Given the description of an element on the screen output the (x, y) to click on. 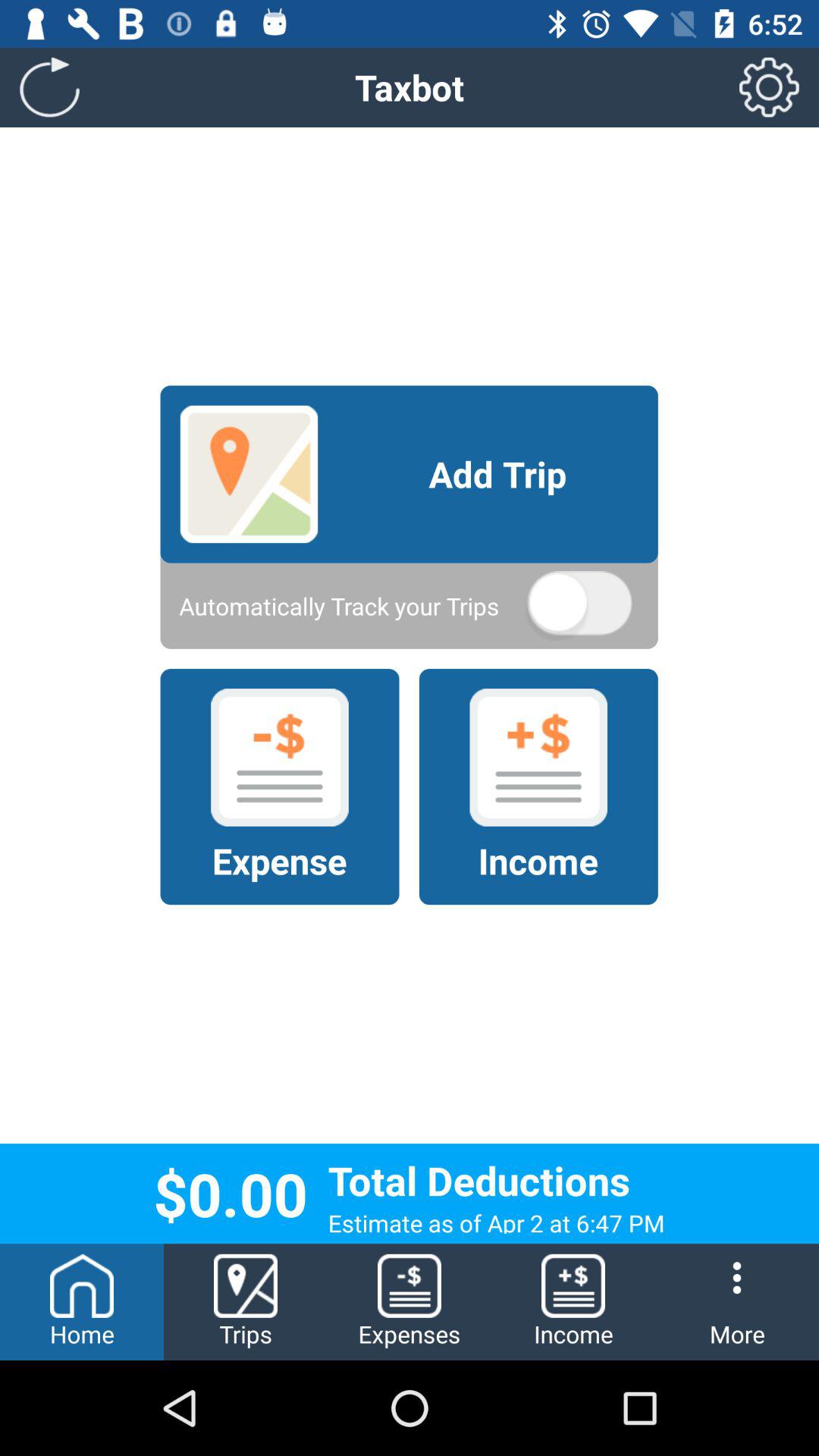
jump until the home (81, 1301)
